Given the description of an element on the screen output the (x, y) to click on. 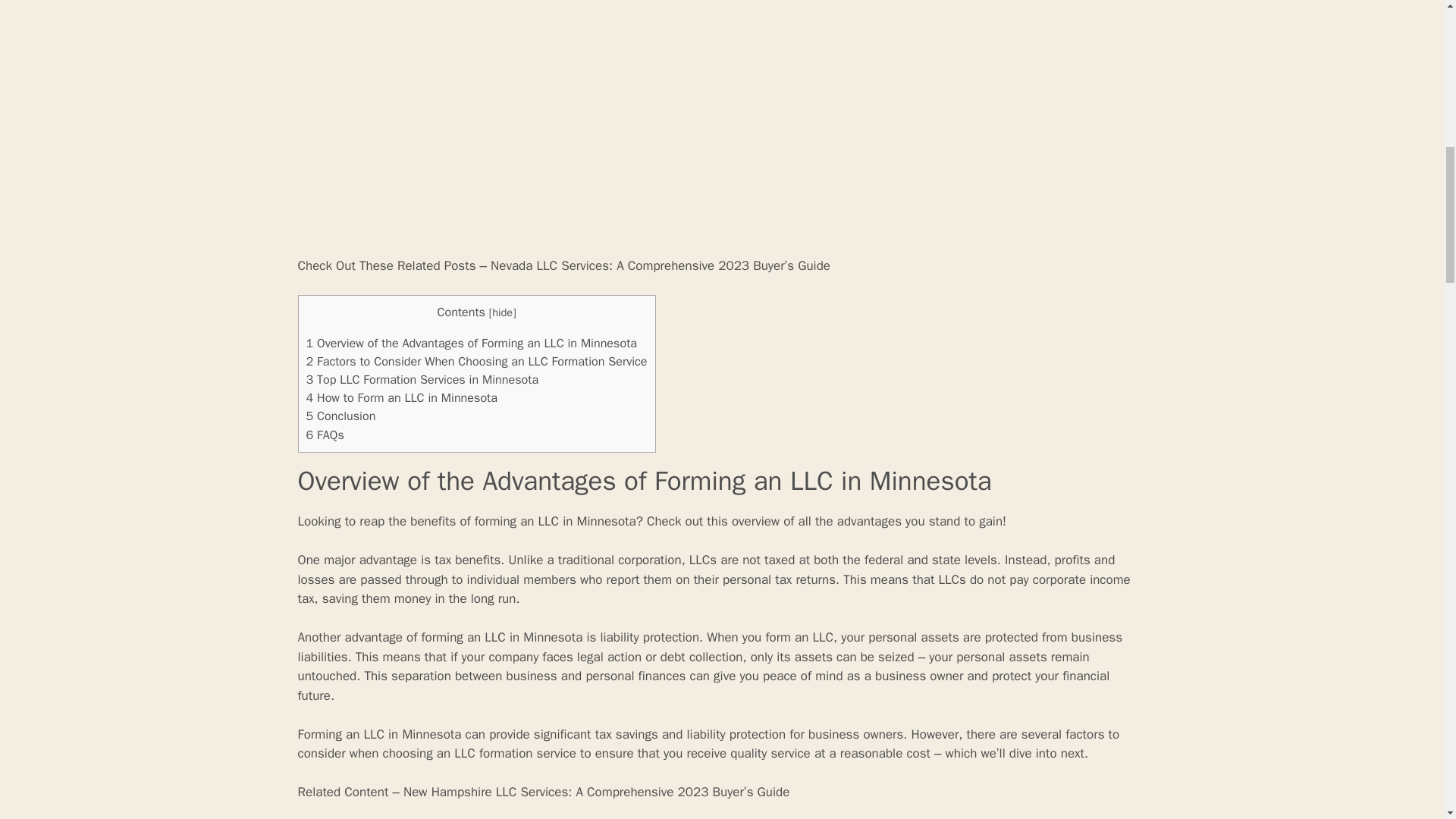
5 Conclusion (340, 415)
3 Top LLC Formation Services in Minnesota (421, 379)
4 How to Form an LLC in Minnesota (401, 397)
2 Factors to Consider When Choosing an LLC Formation Service (476, 360)
6 FAQs (324, 434)
1 Overview of the Advantages of Forming an LLC in Minnesota (471, 342)
hide (502, 312)
